Given the description of an element on the screen output the (x, y) to click on. 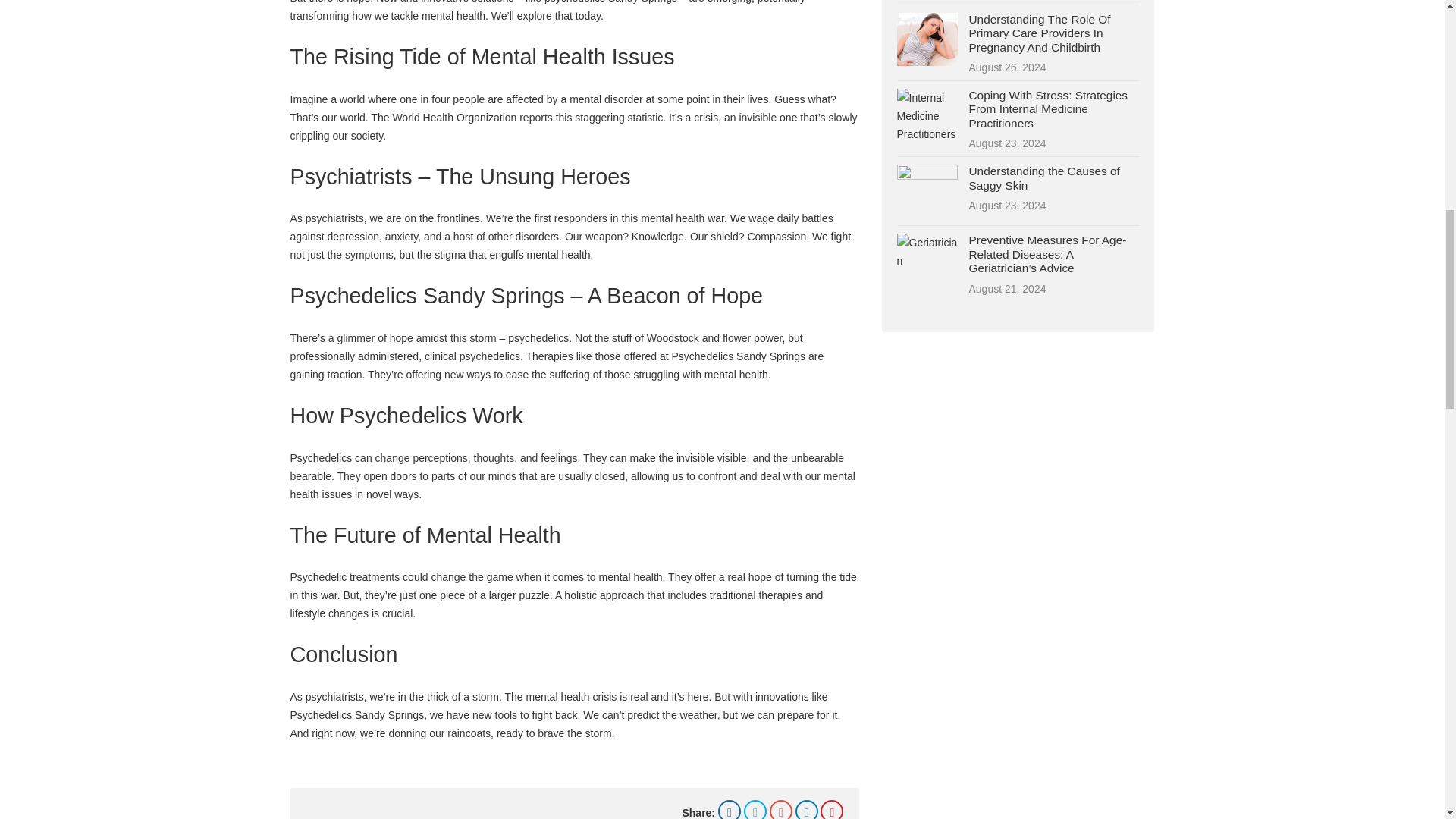
Google Plus (781, 809)
psychedelics Sandy Springs (610, 2)
Linkedin (806, 809)
Twitter (755, 809)
Pinterest (832, 809)
Facebook (729, 809)
